Given the description of an element on the screen output the (x, y) to click on. 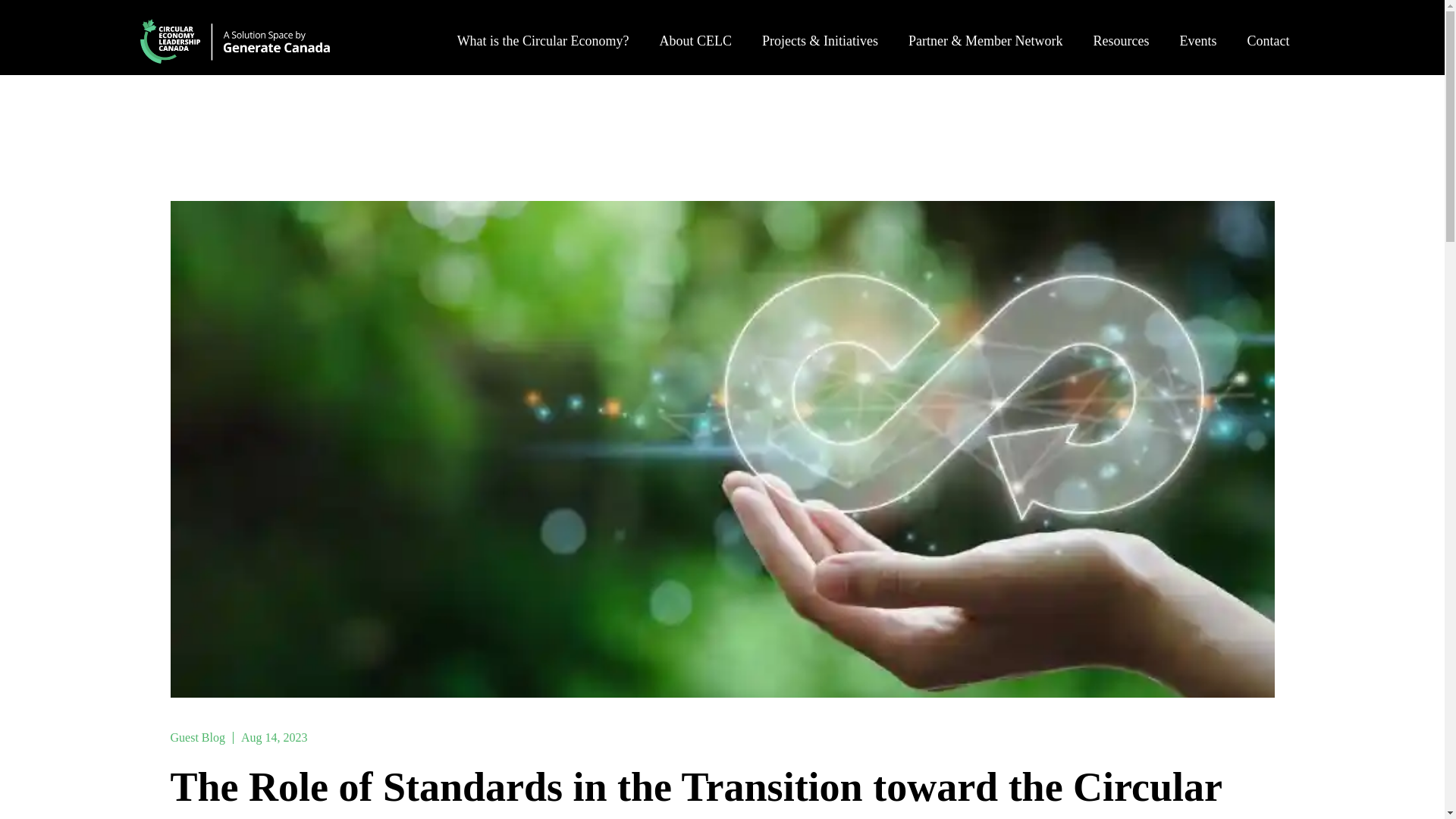
What is the Circular Economy? (542, 40)
About CELC (696, 40)
Contact (1268, 40)
Events (1197, 40)
Resources (1121, 40)
